Given the description of an element on the screen output the (x, y) to click on. 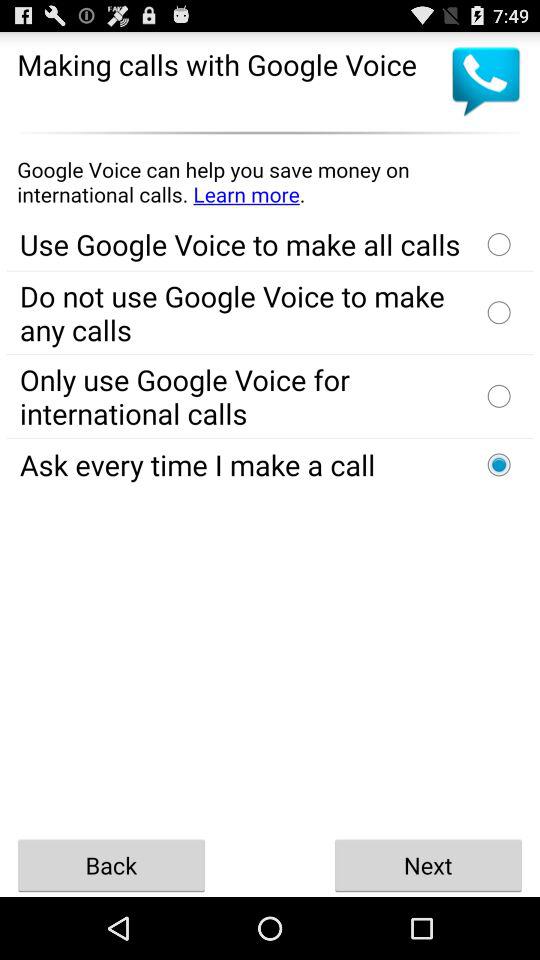
call setting (499, 464)
